Given the description of an element on the screen output the (x, y) to click on. 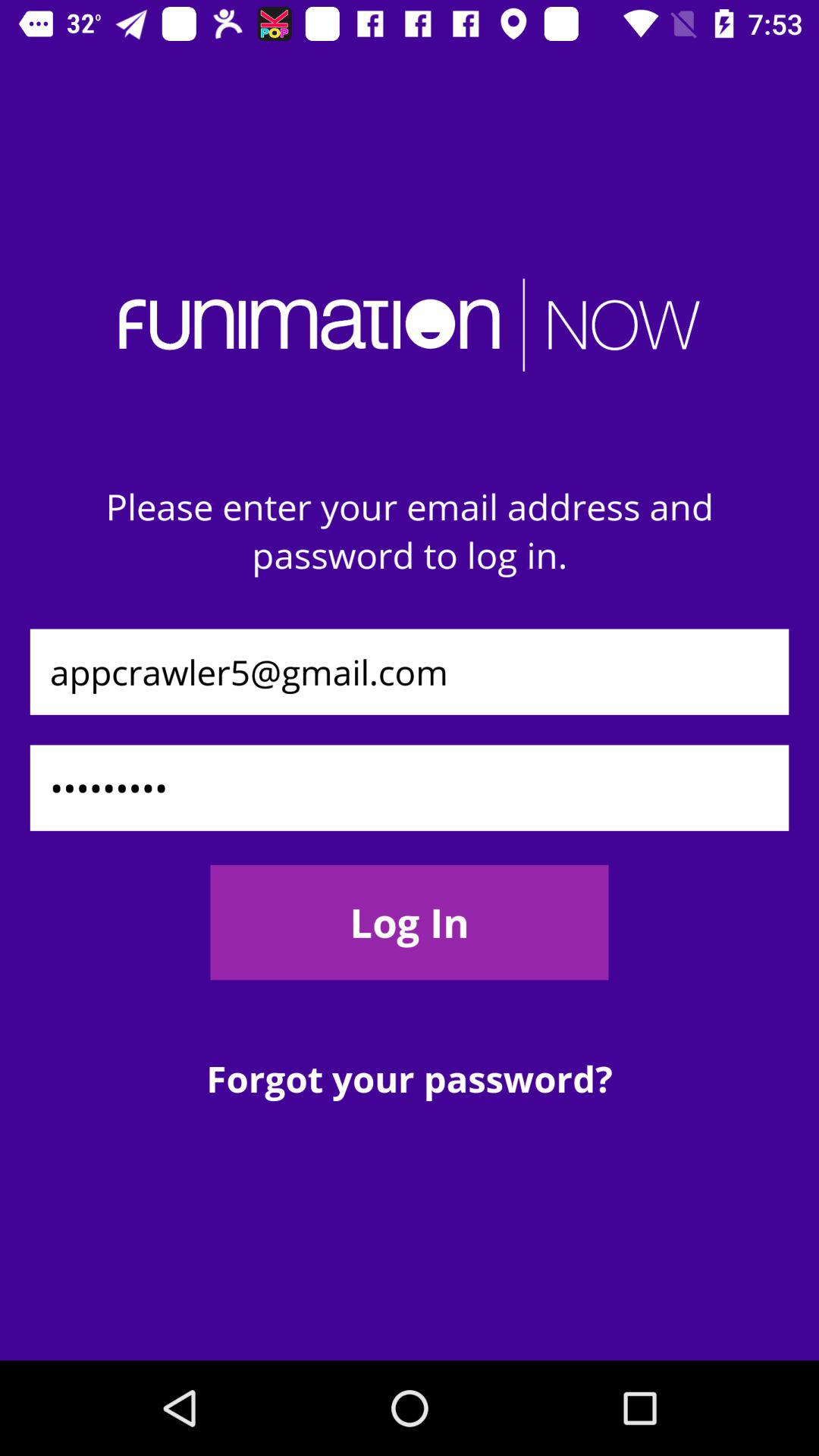
launch the icon below the please enter your icon (409, 671)
